Given the description of an element on the screen output the (x, y) to click on. 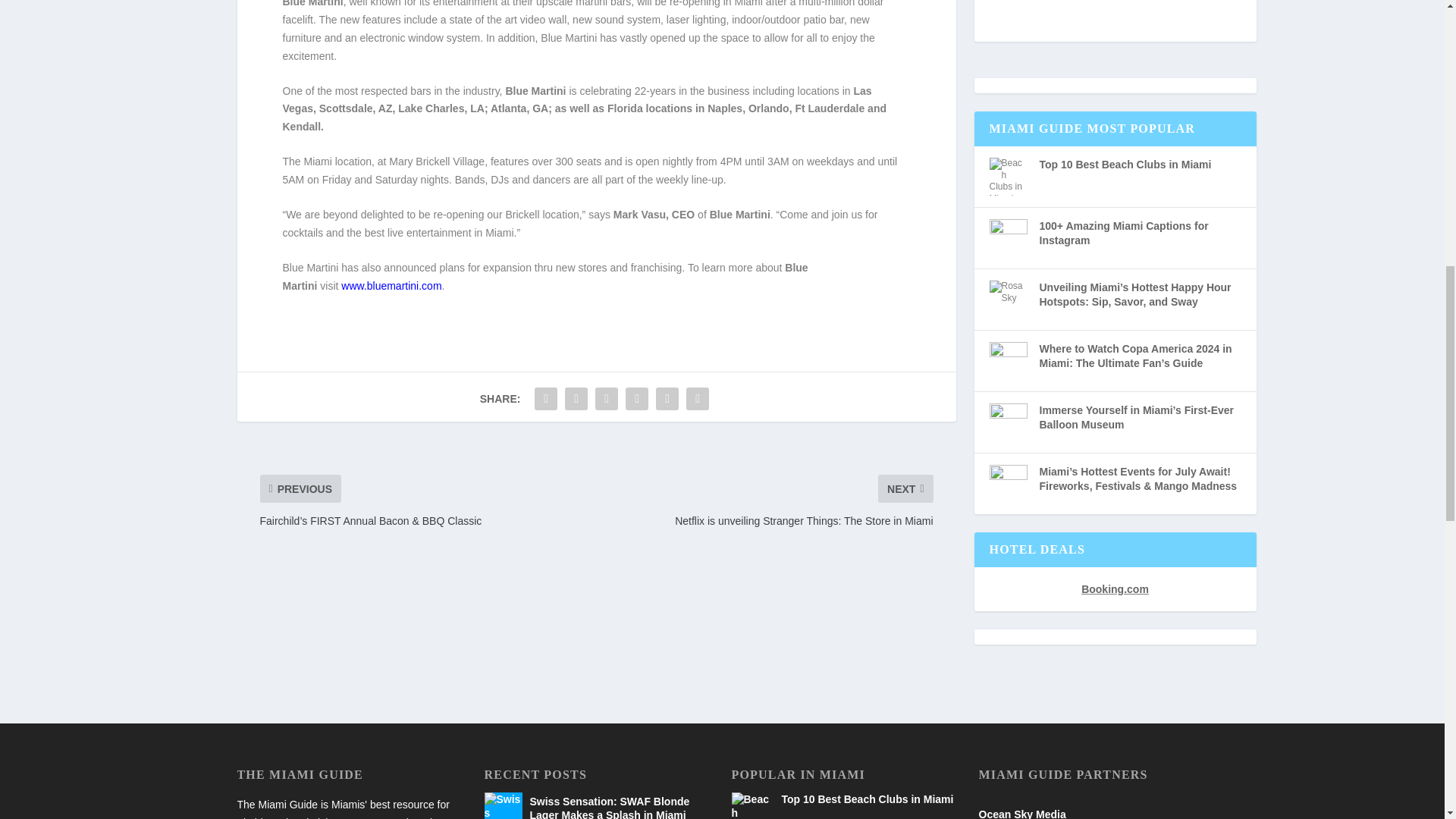
Swiss Sensation: SWAF Blonde Lager Makes a Splash in Miami (502, 805)
www.bluemartini.com (390, 285)
